Given the description of an element on the screen output the (x, y) to click on. 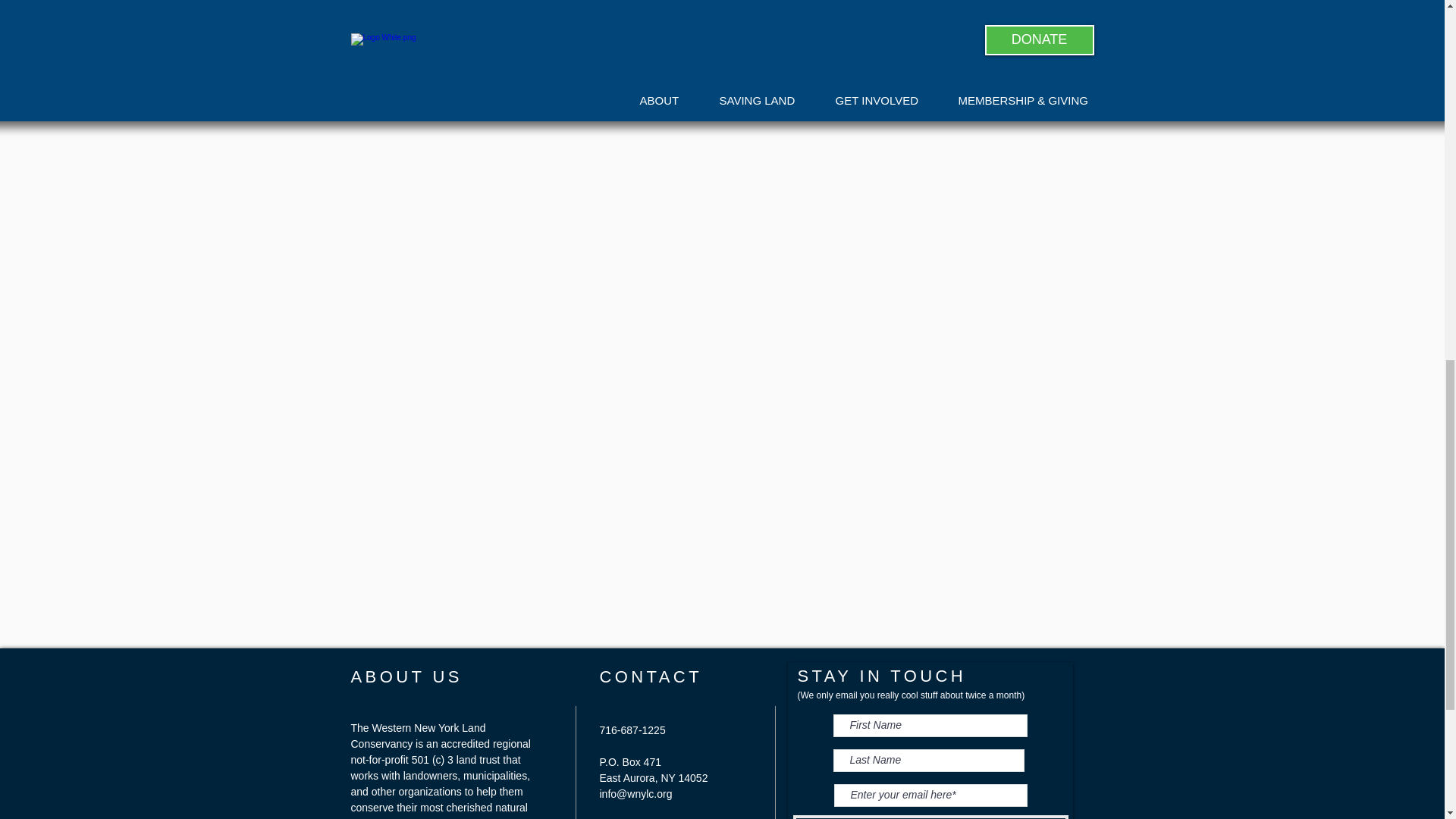
Subscribe Now (930, 816)
